Given the description of an element on the screen output the (x, y) to click on. 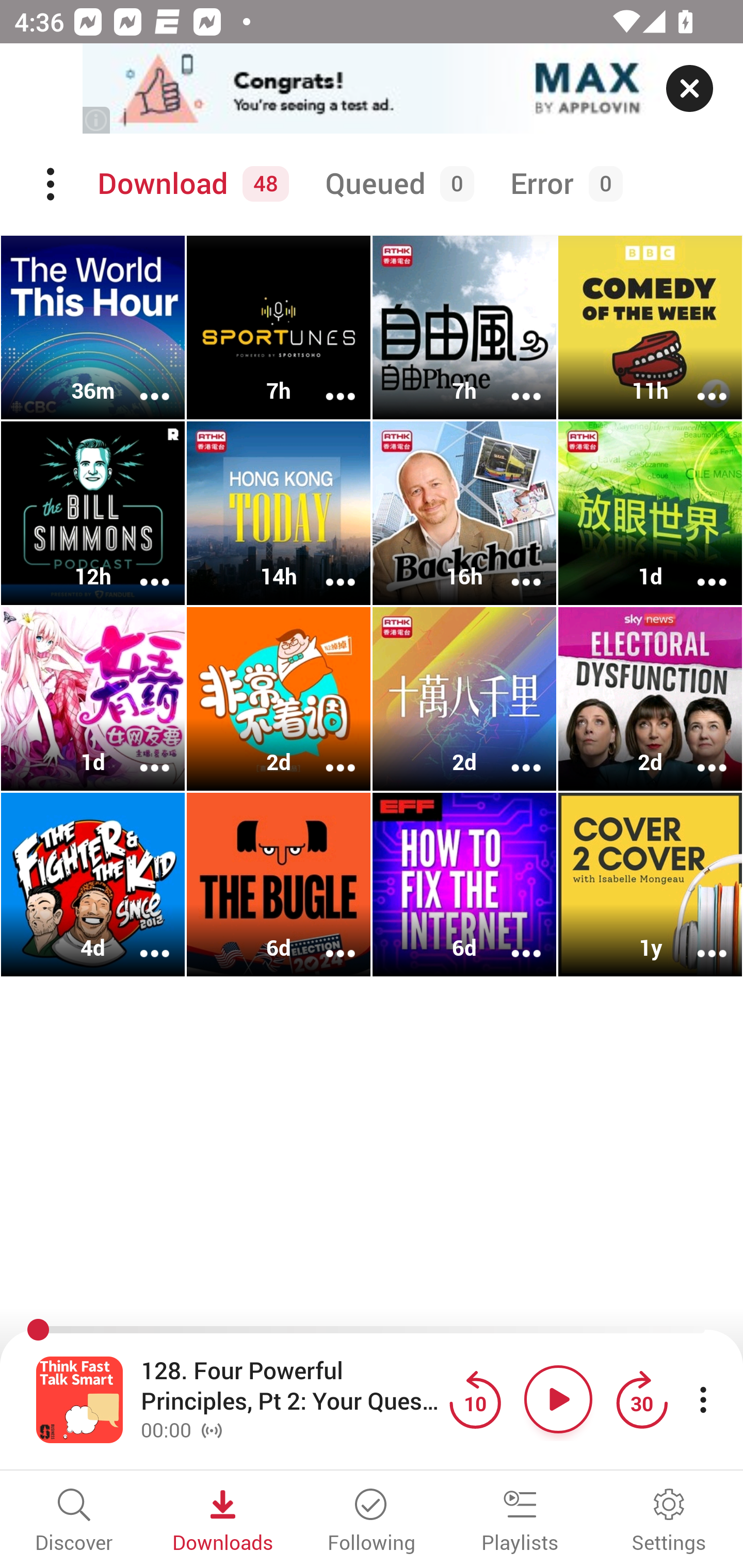
app-monetization (371, 88)
(i) (96, 119)
Menu (52, 184)
 Download 48 (189, 184)
 Queued 0 (396, 184)
 Error 0 (562, 184)
The World This Hour 36m More options More options (92, 327)
Sportunes HK 7h More options More options (278, 327)
自由风自由PHONE 7h More options More options (464, 327)
Comedy of the Week 11h More options More options (650, 327)
More options (141, 382)
More options (326, 382)
More options (512, 382)
More options (698, 382)
Hong Kong Today 14h More options More options (278, 513)
Backchat 16h More options More options (464, 513)
放眼世界 1d More options More options (650, 513)
More options (141, 569)
More options (326, 569)
More options (512, 569)
More options (698, 569)
女王有药丨爆笑脱口秀 1d More options More options (92, 698)
非常不着调 2d More options More options (278, 698)
十萬八千里 2d More options More options (464, 698)
Electoral Dysfunction 2d More options More options (650, 698)
More options (141, 754)
More options (326, 754)
More options (512, 754)
More options (698, 754)
The Fighter & The Kid 4d More options More options (92, 883)
The Bugle 6d More options More options (278, 883)
Cover 2 Cover 1y More options More options (650, 883)
More options (141, 940)
More options (326, 940)
More options (512, 940)
More options (698, 940)
Open fullscreen player (79, 1399)
More player controls (703, 1399)
Play button (558, 1398)
Jump back (475, 1399)
Jump forward (641, 1399)
Discover (74, 1521)
Downloads (222, 1521)
Following (371, 1521)
Playlists (519, 1521)
Settings (668, 1521)
